Given the description of an element on the screen output the (x, y) to click on. 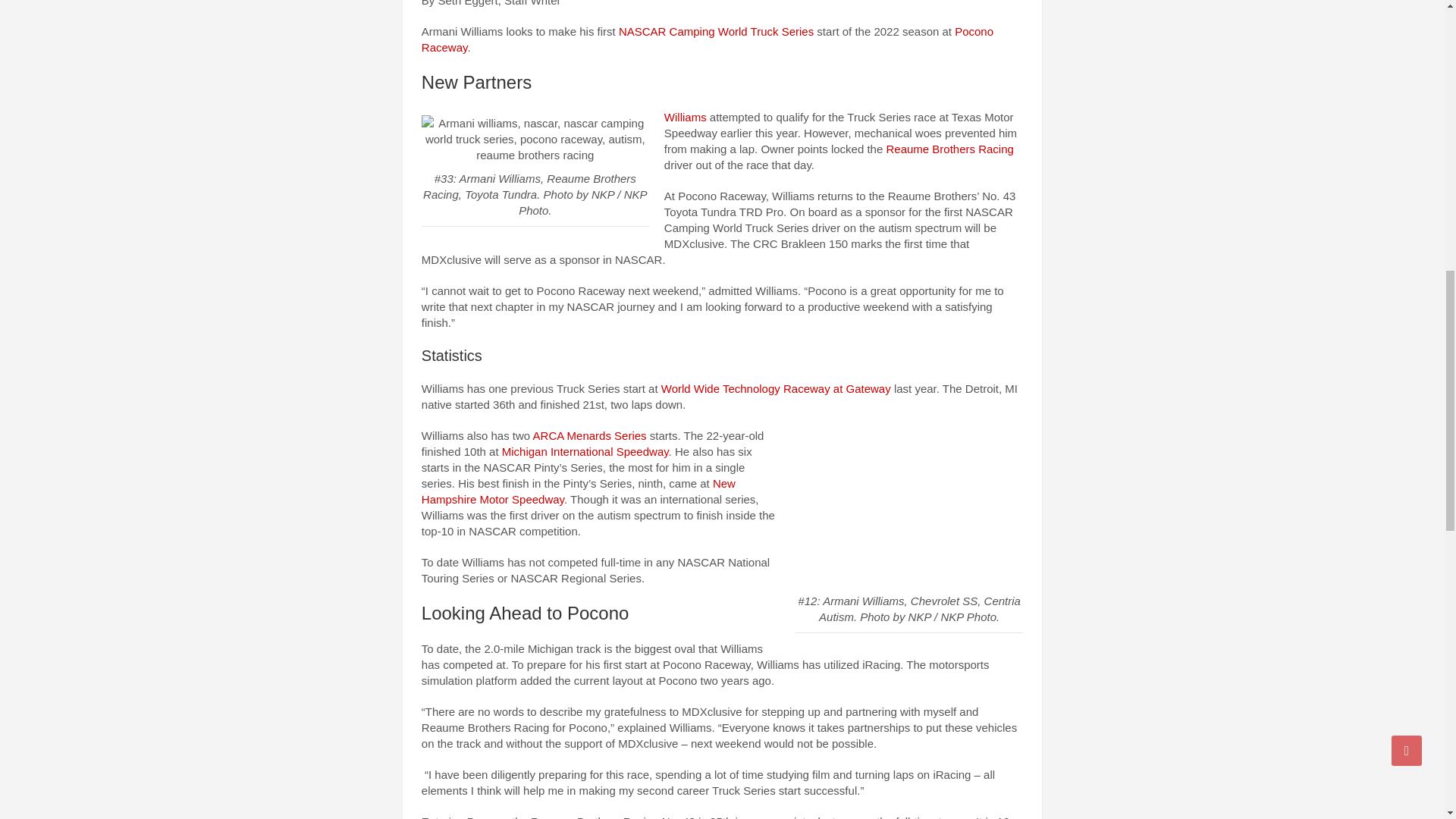
NASCAR Camping World Truck Series (715, 31)
